Given the description of an element on the screen output the (x, y) to click on. 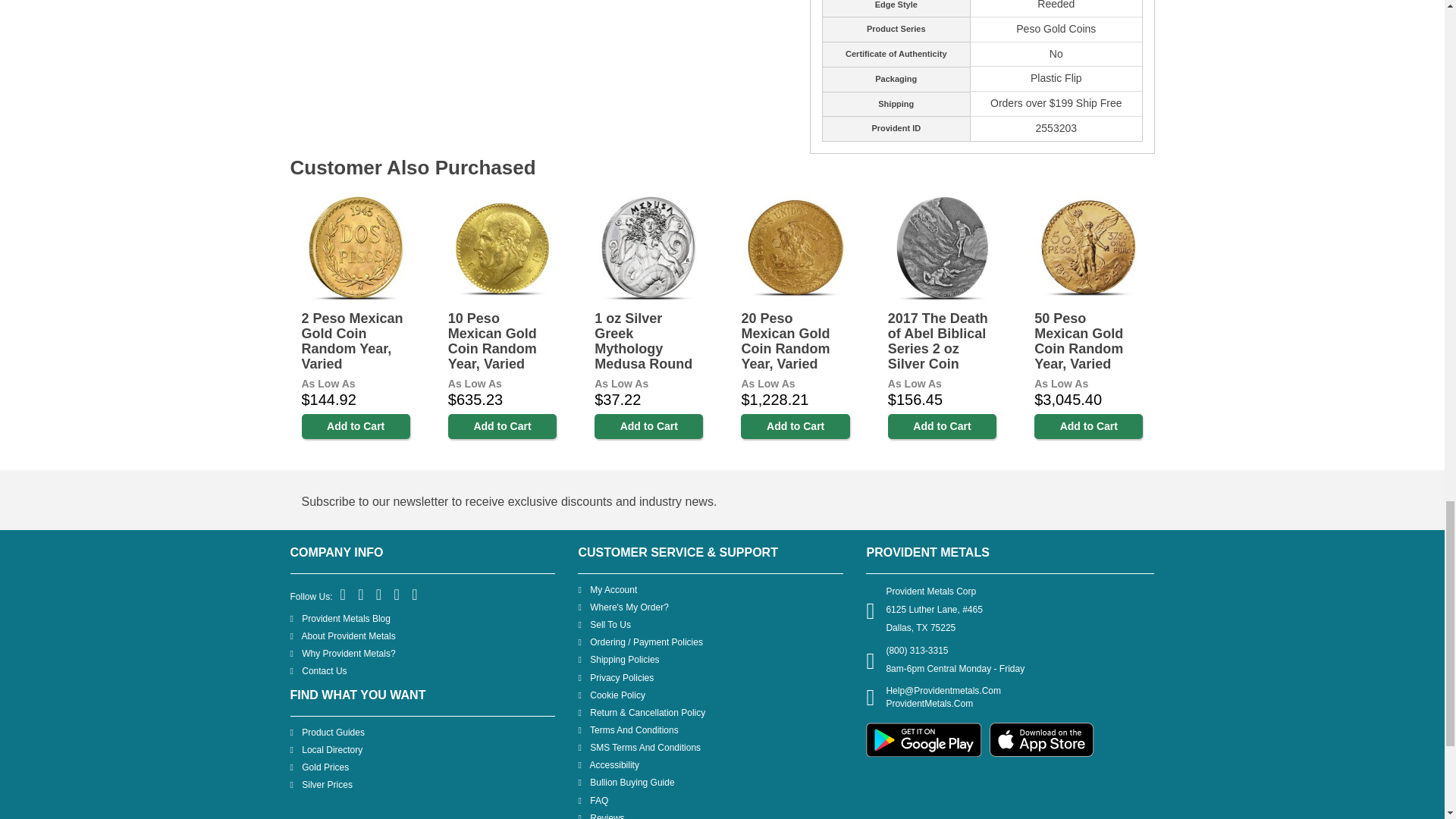
Pinterest (379, 594)
Facebook (344, 594)
Twitter (361, 594)
